Given the description of an element on the screen output the (x, y) to click on. 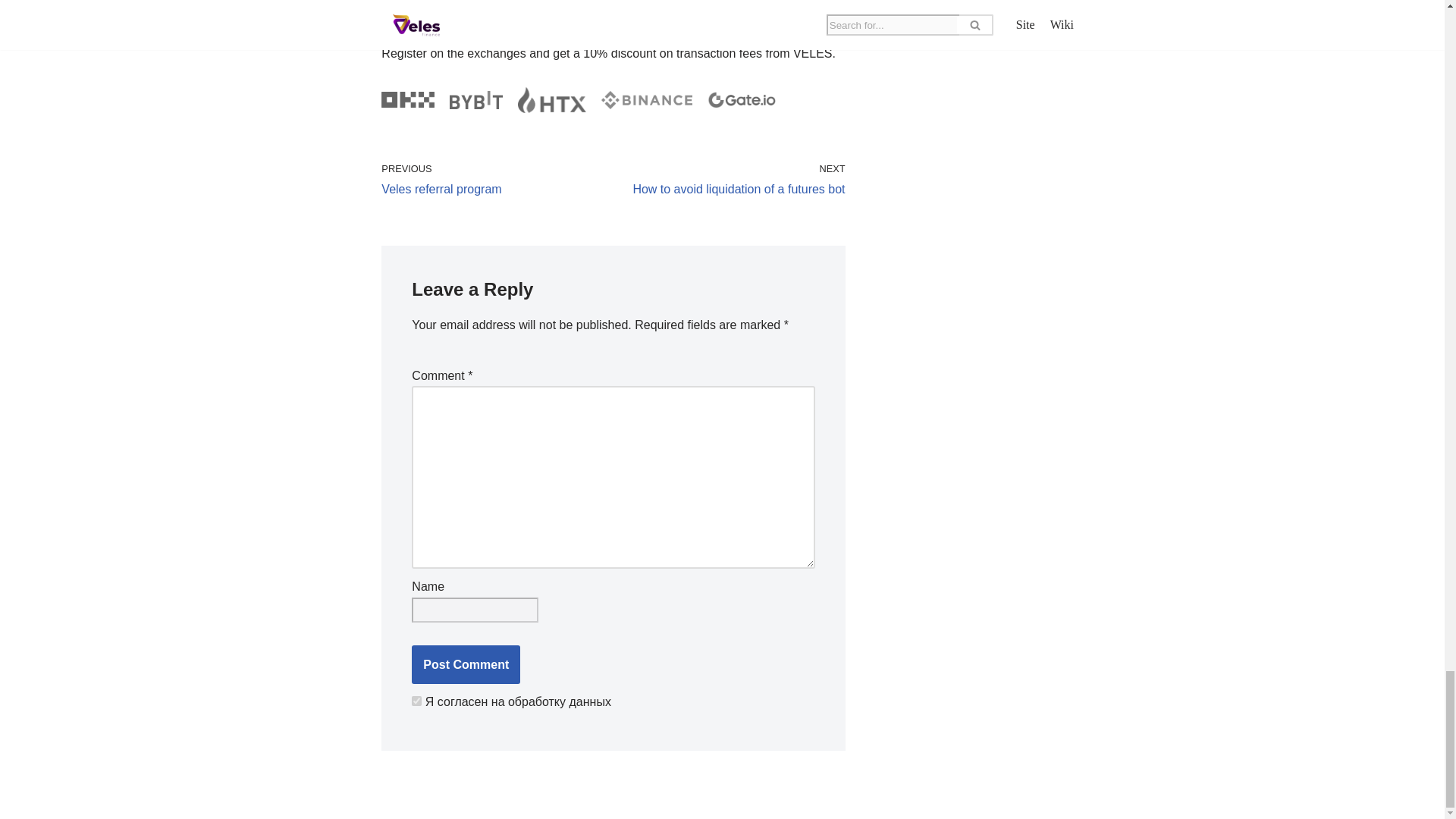
Post Comment (465, 664)
on (493, 178)
Post Comment (733, 178)
